Given the description of an element on the screen output the (x, y) to click on. 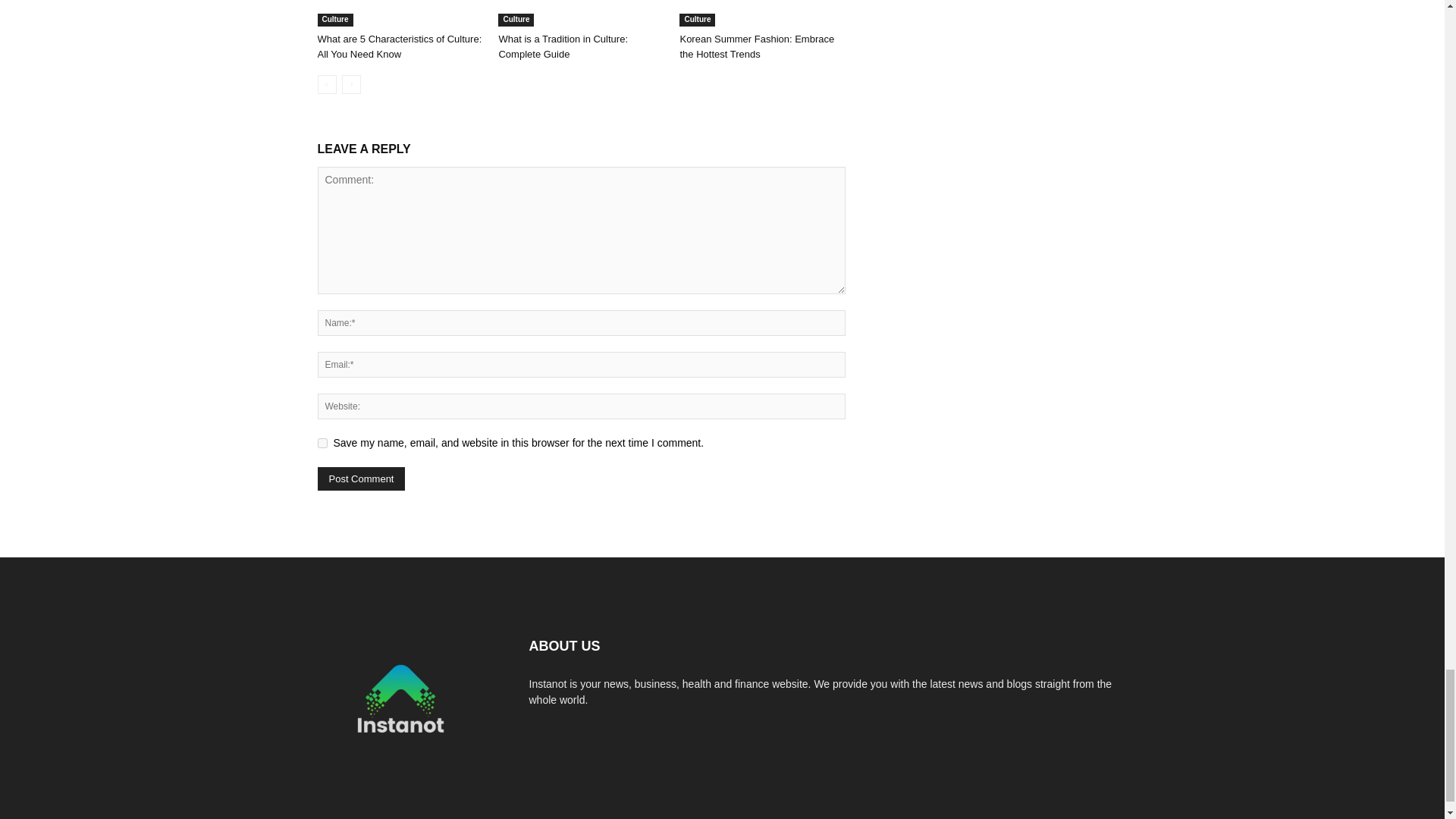
What is a Tradition in Culture: Complete Guide (580, 13)
Korean Summer Fashion: Embrace the Hottest Trends (756, 46)
Korean Summer Fashion: Embrace the Hottest Trends (761, 13)
What are 5 Characteristics of Culture: All You Need Know (399, 46)
yes (321, 442)
Post Comment (360, 478)
What are 5 Characteristics of Culture: All You Need Know (399, 13)
What is a Tradition in Culture: Complete Guide (562, 46)
